Given the description of an element on the screen output the (x, y) to click on. 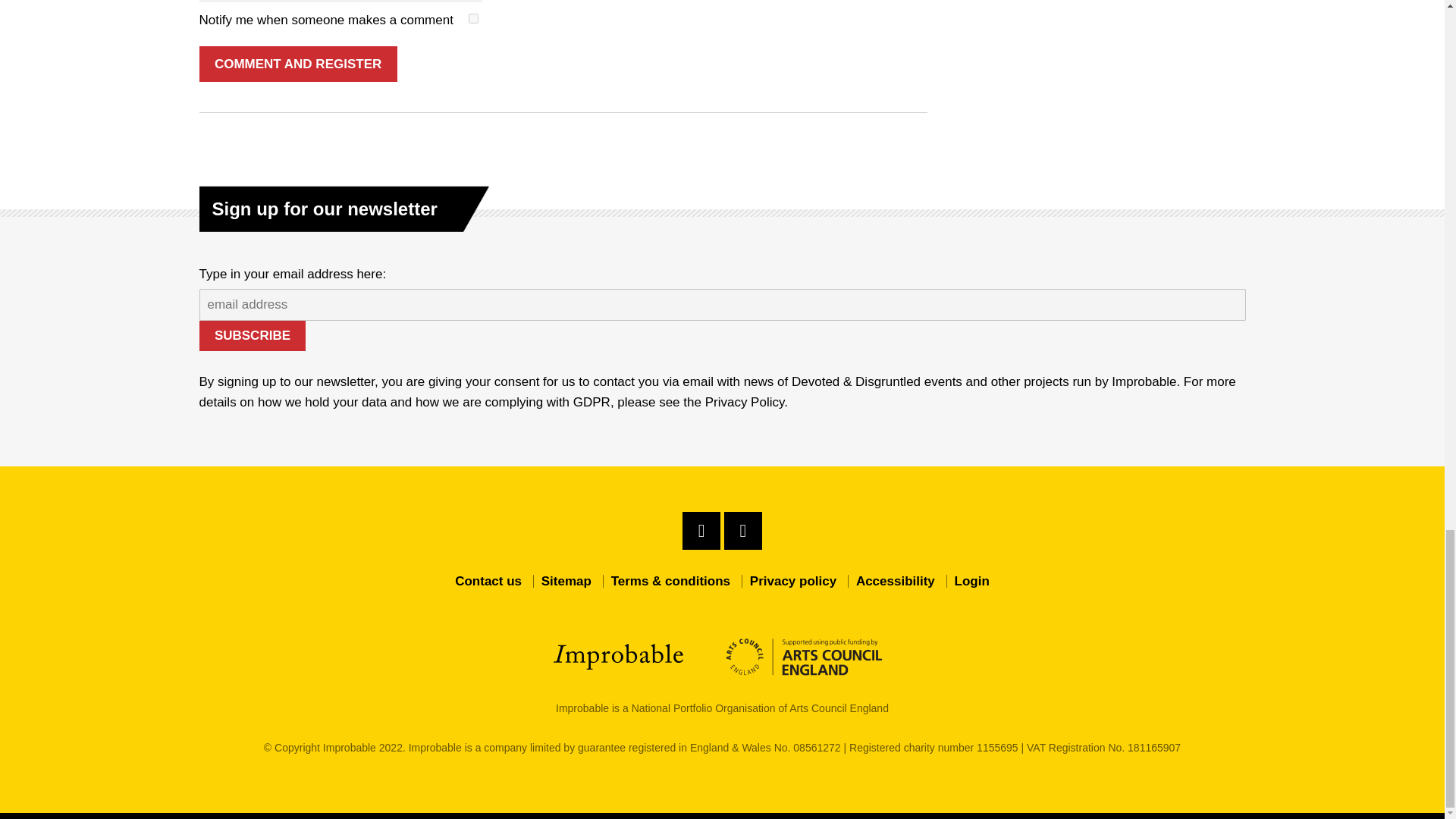
Subscribe (251, 336)
on (473, 18)
